Given the description of an element on the screen output the (x, y) to click on. 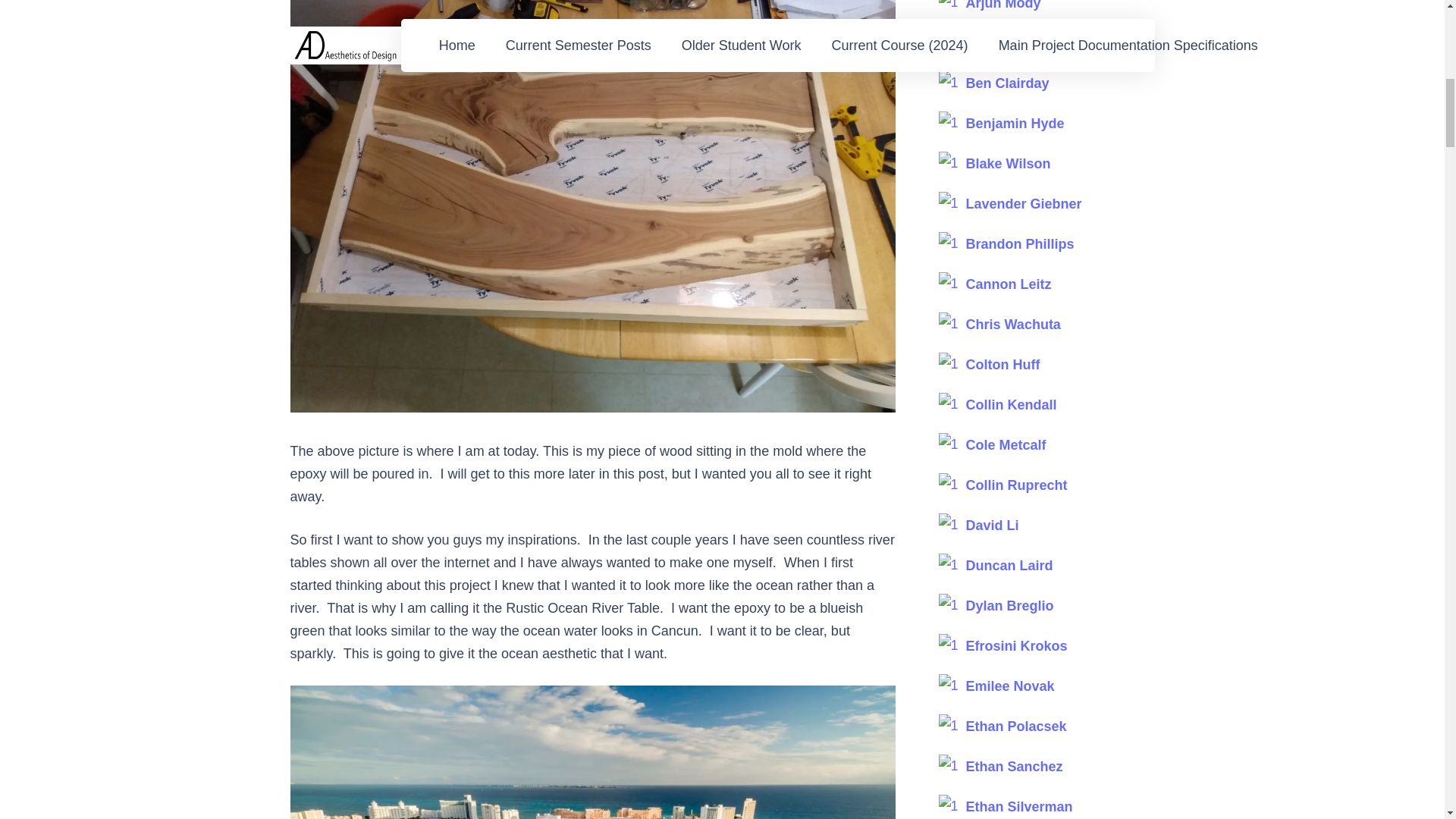
Back to top (1413, 26)
